Given the description of an element on the screen output the (x, y) to click on. 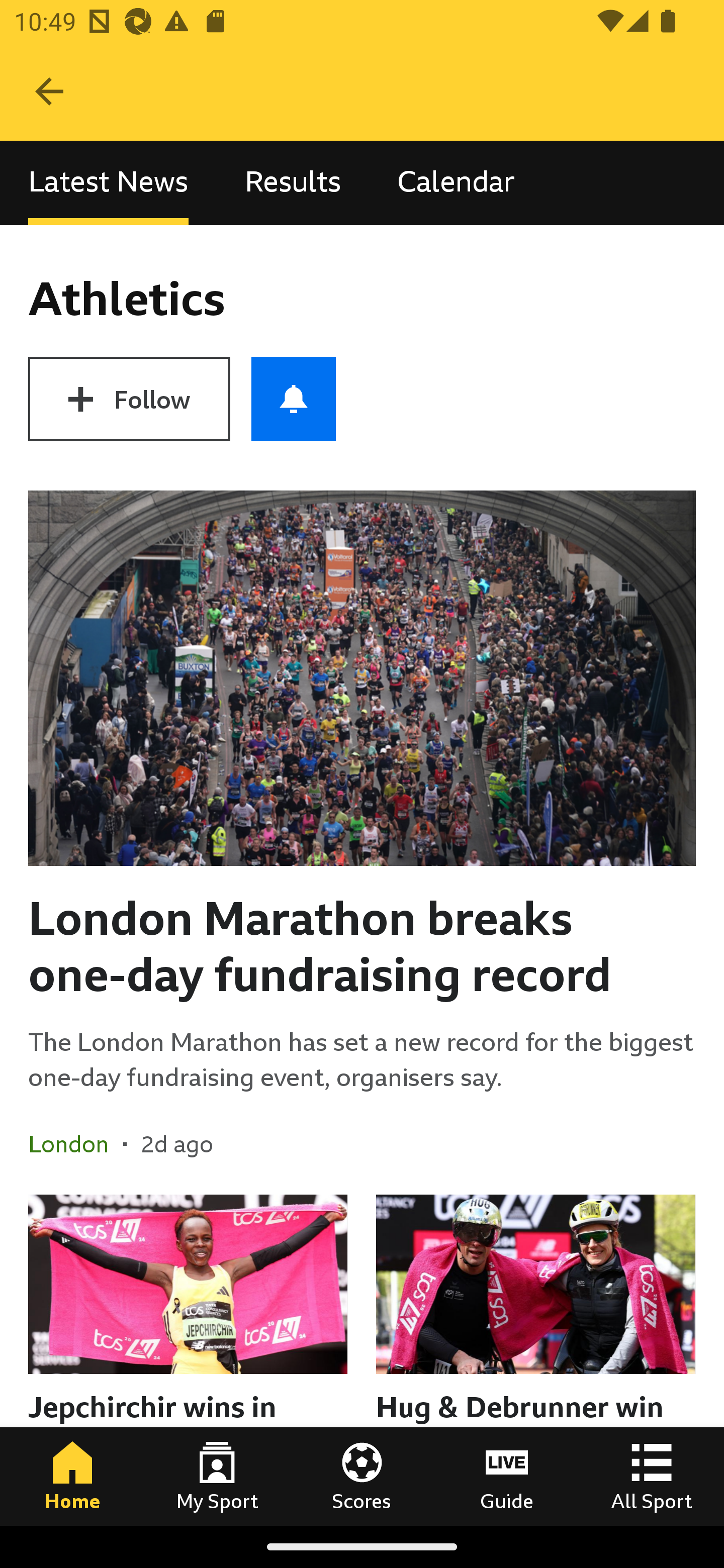
Navigate up (49, 91)
Latest News, selected Latest News (108, 183)
Results (292, 183)
Calendar (456, 183)
Follow Athletics Follow (129, 398)
Push notifications for Athletics (293, 398)
London In the section London (75, 1143)
My Sport (216, 1475)
Scores (361, 1475)
Guide (506, 1475)
All Sport (651, 1475)
